Given the description of an element on the screen output the (x, y) to click on. 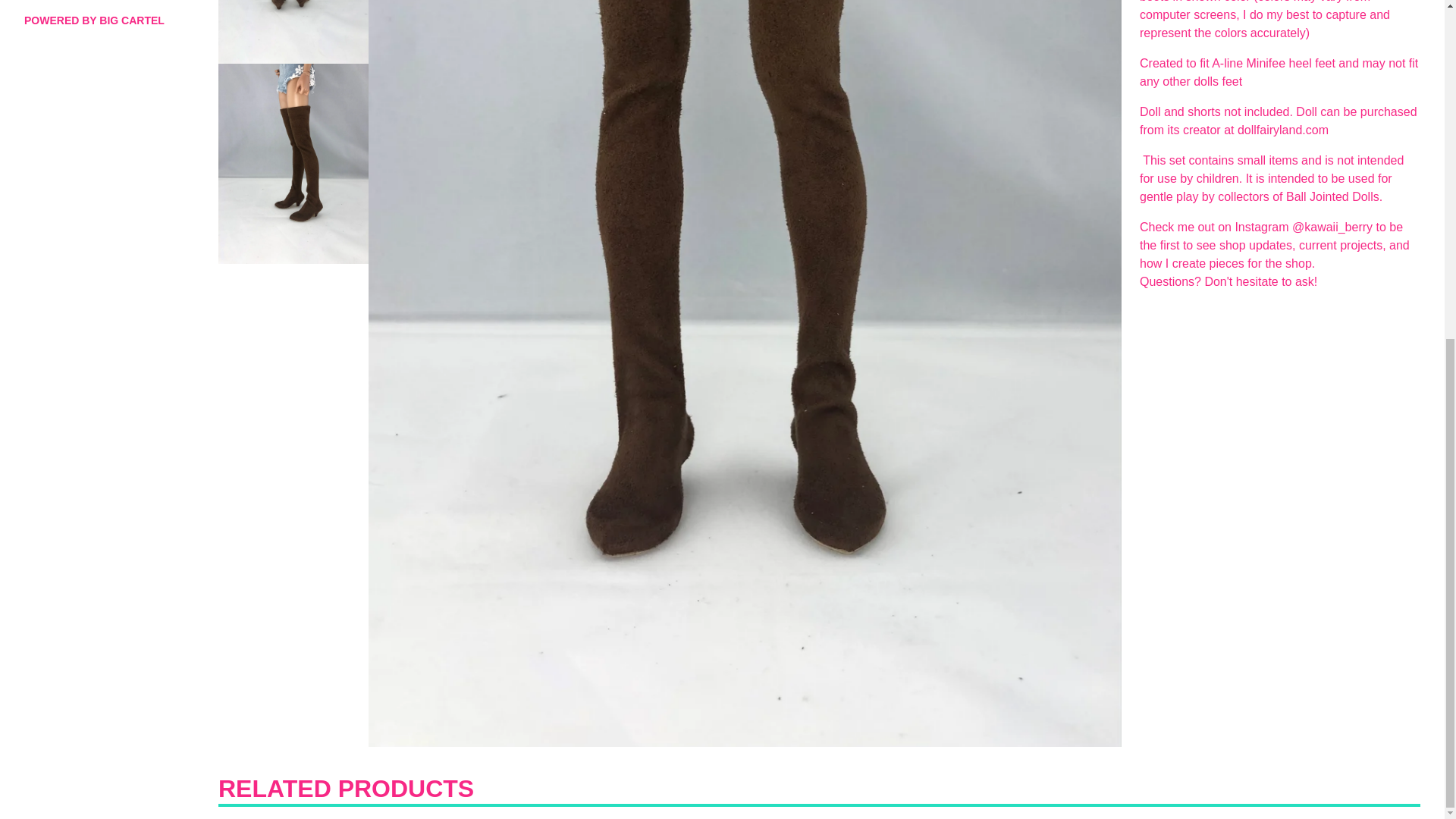
POWERED BY BIG CARTEL (112, 20)
